Given the description of an element on the screen output the (x, y) to click on. 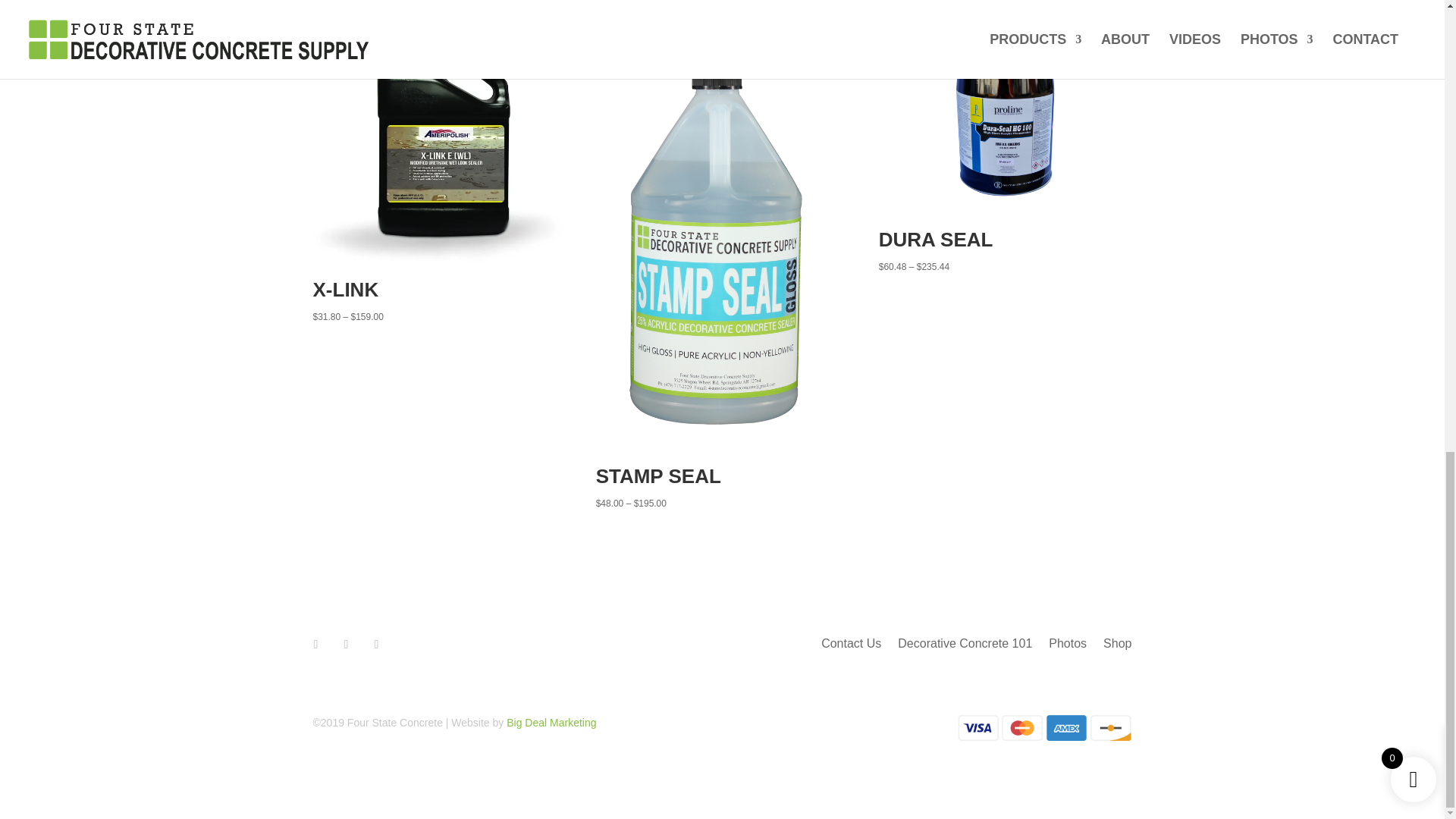
Follow on Facebook (314, 644)
Follow on Instagram (345, 644)
Follow on Youtube (376, 644)
